Given the description of an element on the screen output the (x, y) to click on. 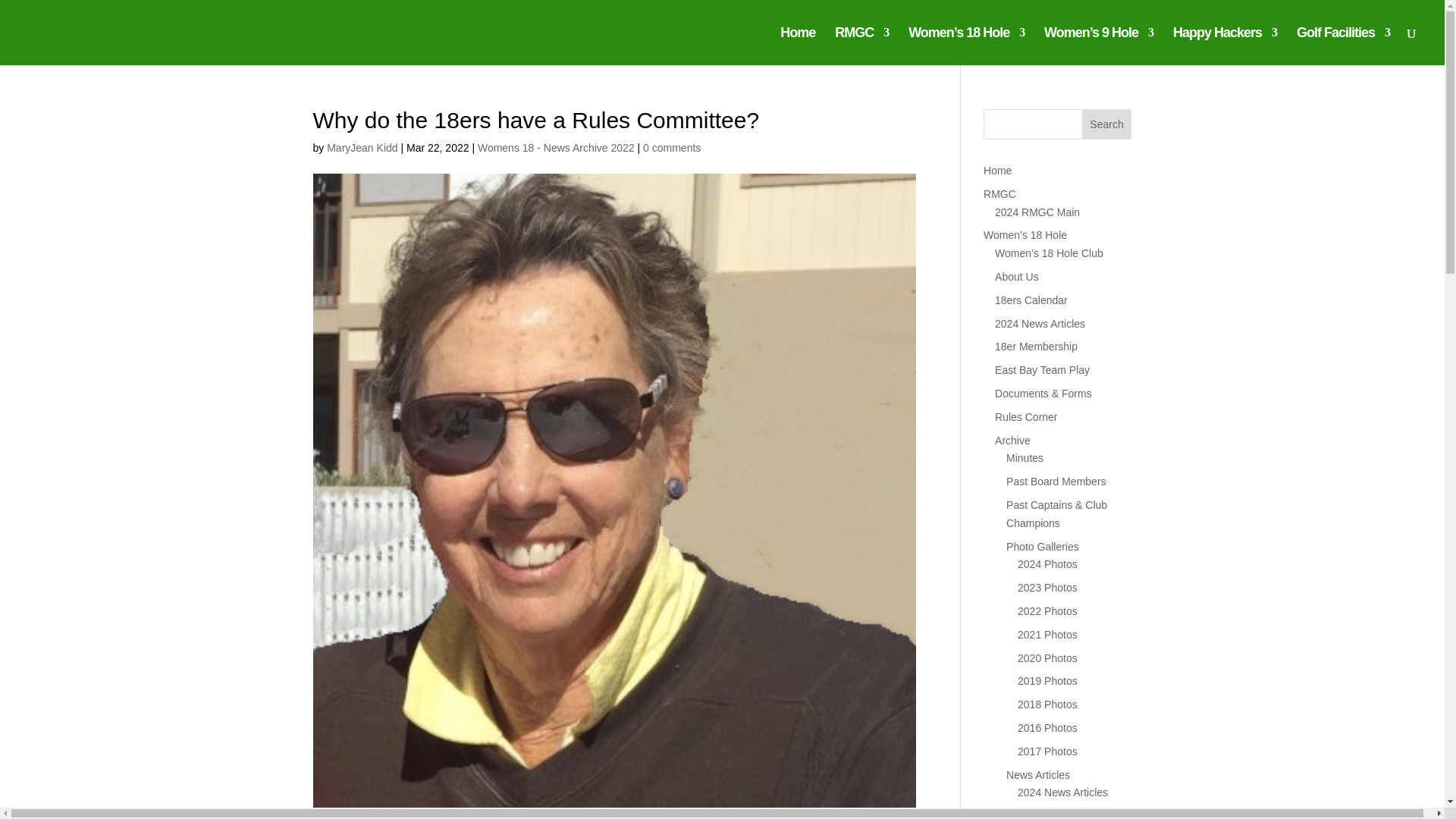
Home (797, 46)
RMGC (861, 46)
Posts by MaryJean Kidd (361, 147)
Search (1106, 123)
